Given the description of an element on the screen output the (x, y) to click on. 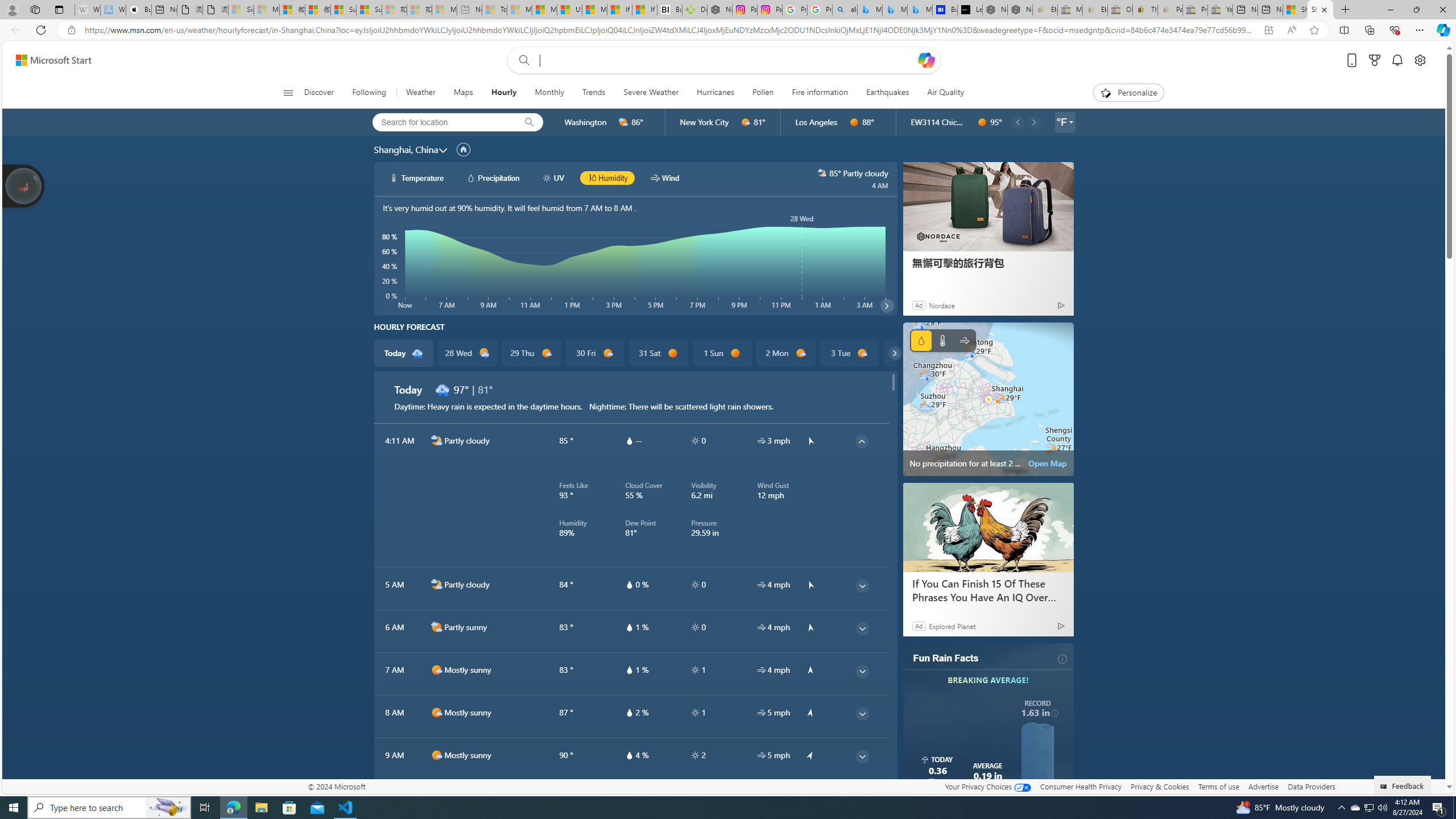
Maps (462, 92)
Consumer Health Privacy (1080, 785)
Severe Weather (651, 92)
hourlyChart/windWhite (655, 177)
